Given the description of an element on the screen output the (x, y) to click on. 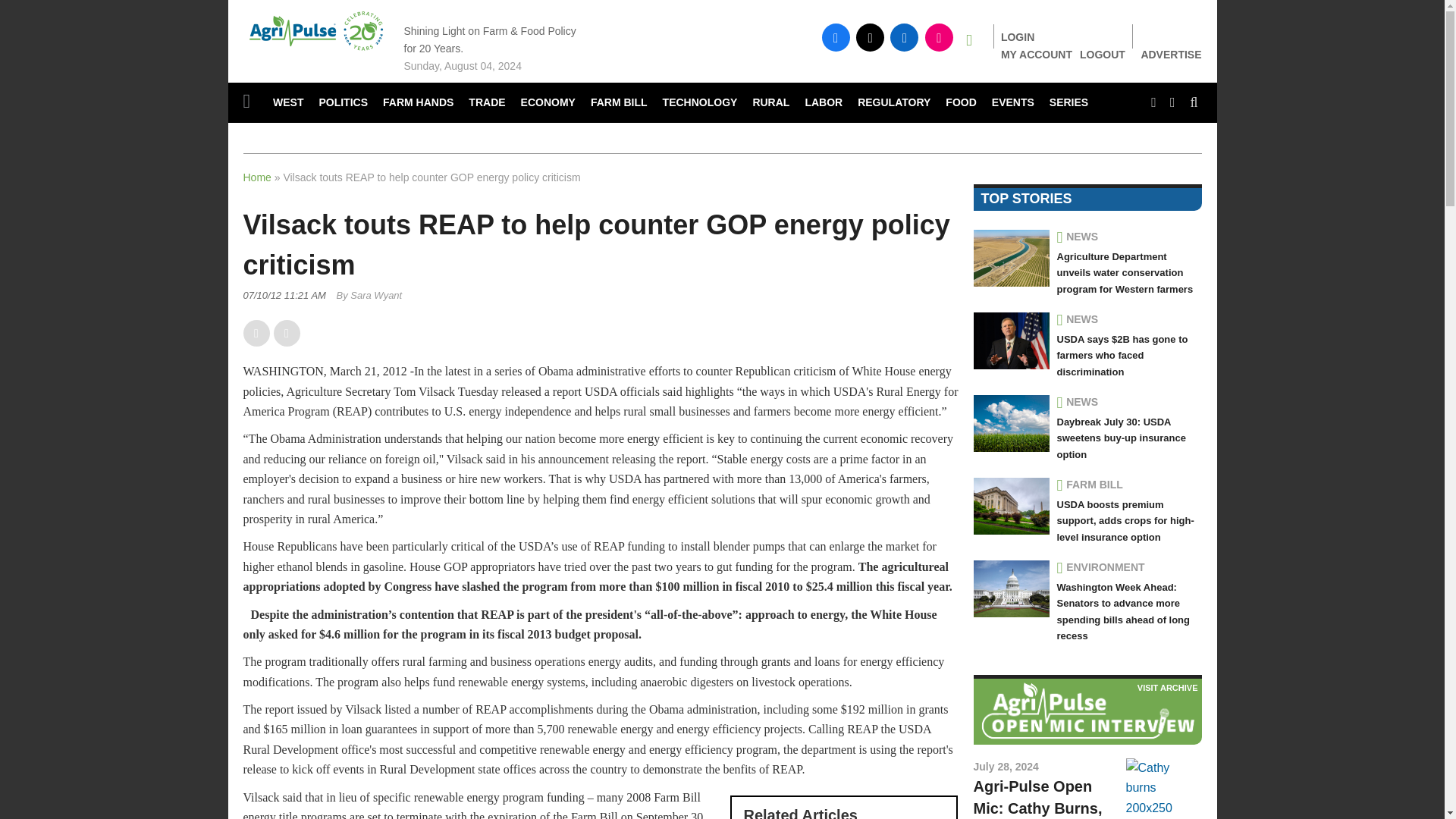
TRADE (486, 102)
WEST (287, 102)
MY ACCOUNT (1036, 54)
FOOD (960, 102)
ECONOMY (548, 102)
TECHNOLOGY (700, 102)
REGULATORY (893, 102)
POLITICS (343, 102)
LOGIN (1017, 37)
FARM HANDS (418, 102)
LABOR (823, 102)
FARM BILL (619, 102)
EVENTS (1013, 102)
LOGOUT (1102, 54)
ADVERTISE (1170, 54)
